Given the description of an element on the screen output the (x, y) to click on. 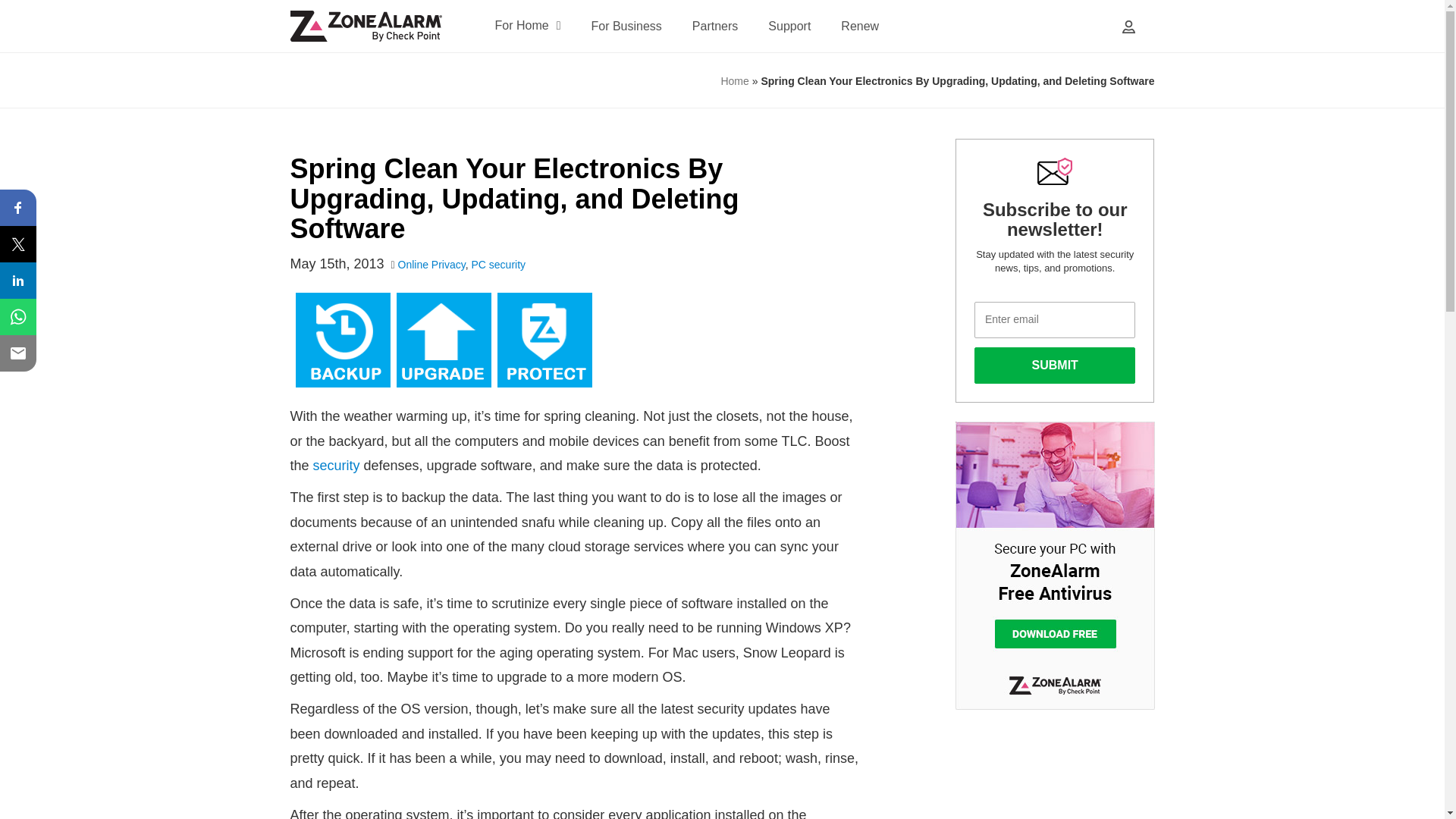
PC security (498, 264)
Home (734, 80)
security (336, 465)
Partners (715, 26)
Online Privacy (430, 264)
Renew (860, 26)
For Business (626, 26)
Support (789, 26)
